Given the description of an element on the screen output the (x, y) to click on. 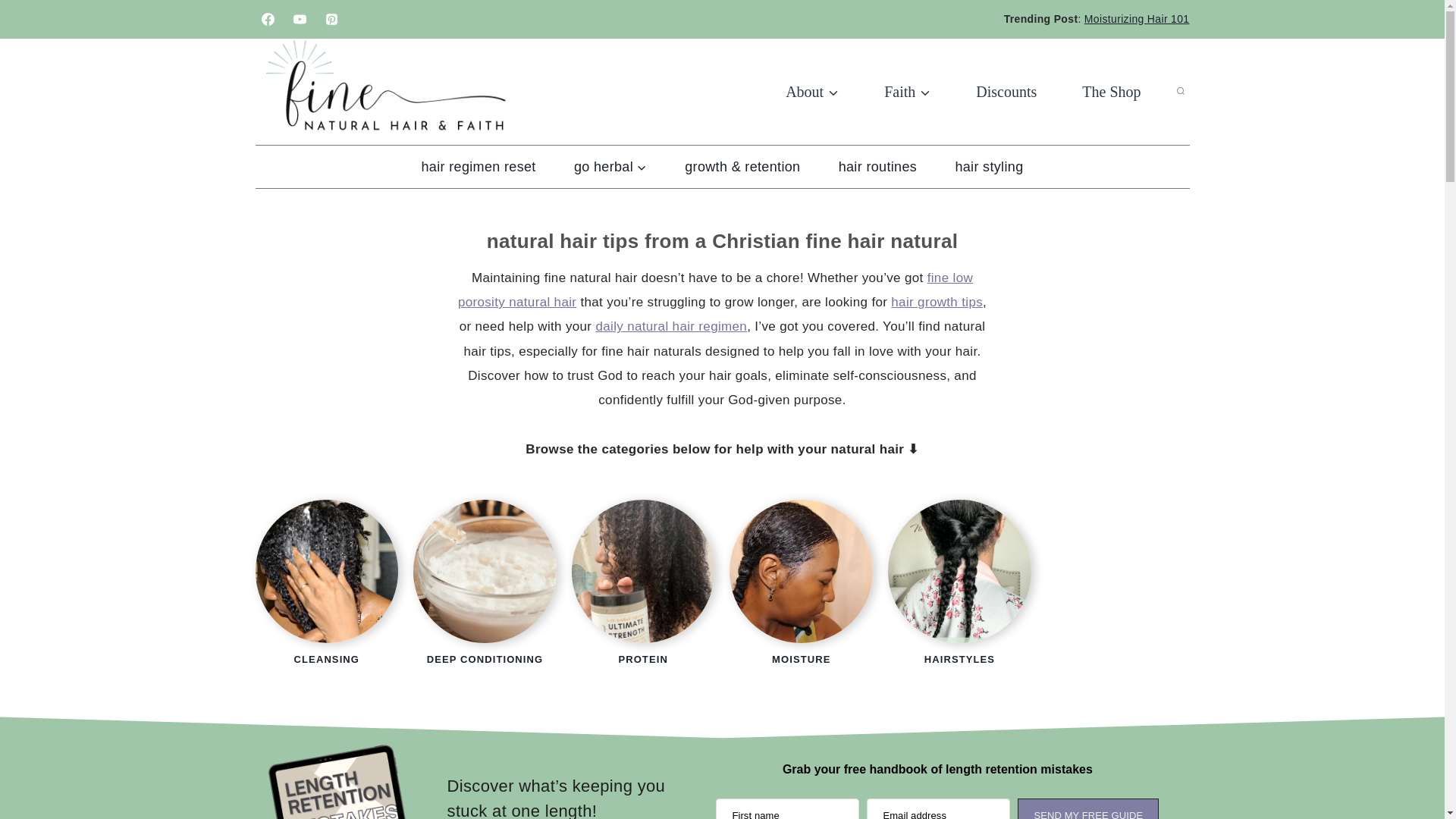
hair styling (989, 166)
hair regimen reset (477, 166)
go herbal (609, 166)
hair growth tips (936, 301)
Moisturizing Hair 101 (1136, 19)
Discounts (1006, 91)
hair routines (877, 166)
daily natural hair regimen (670, 326)
About (811, 91)
The Shop (1111, 91)
